Given the description of an element on the screen output the (x, y) to click on. 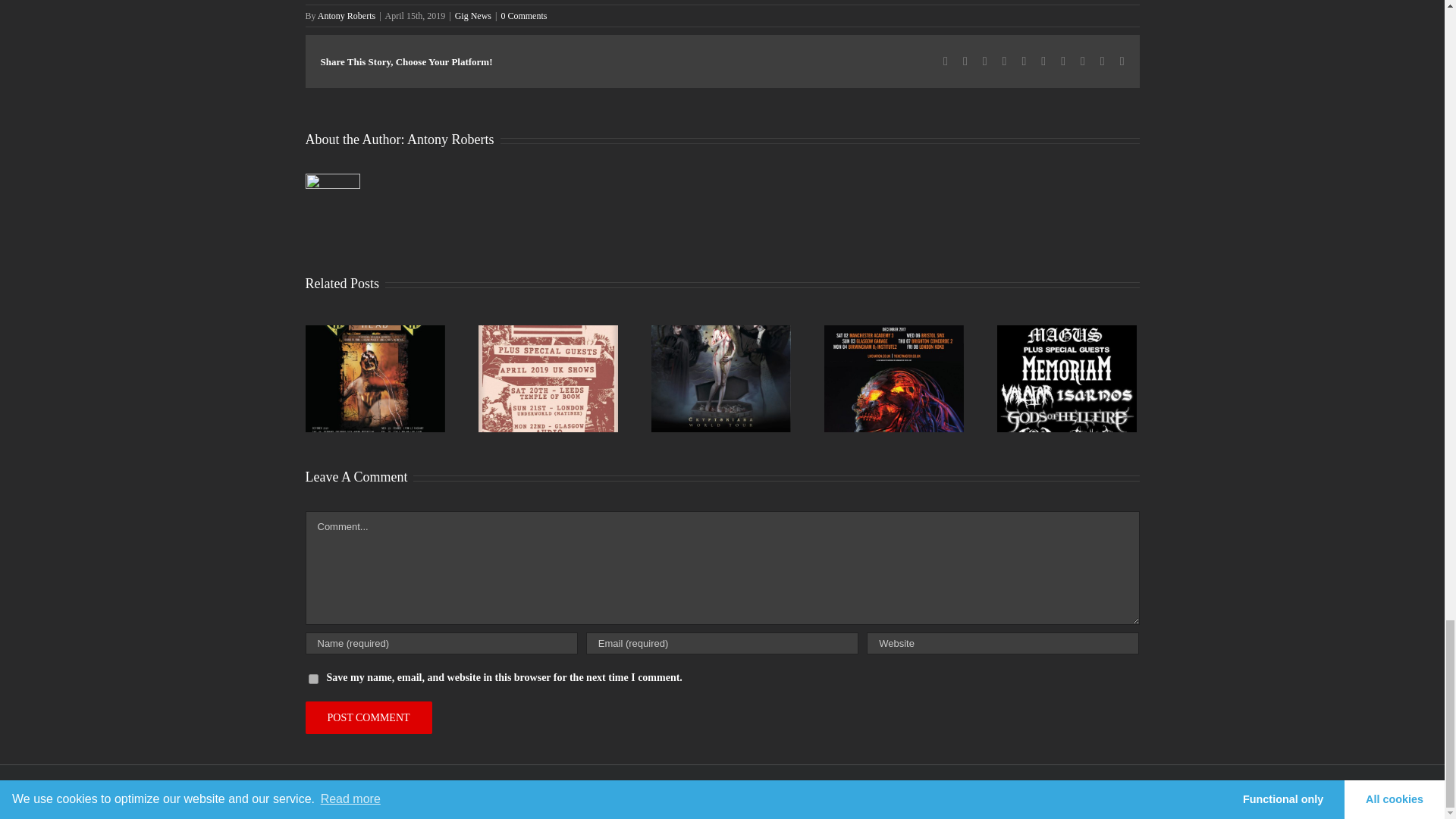
yes (312, 678)
Post Comment (367, 717)
Posts by Antony Roberts (451, 139)
Posts by Antony Roberts (346, 15)
